Given the description of an element on the screen output the (x, y) to click on. 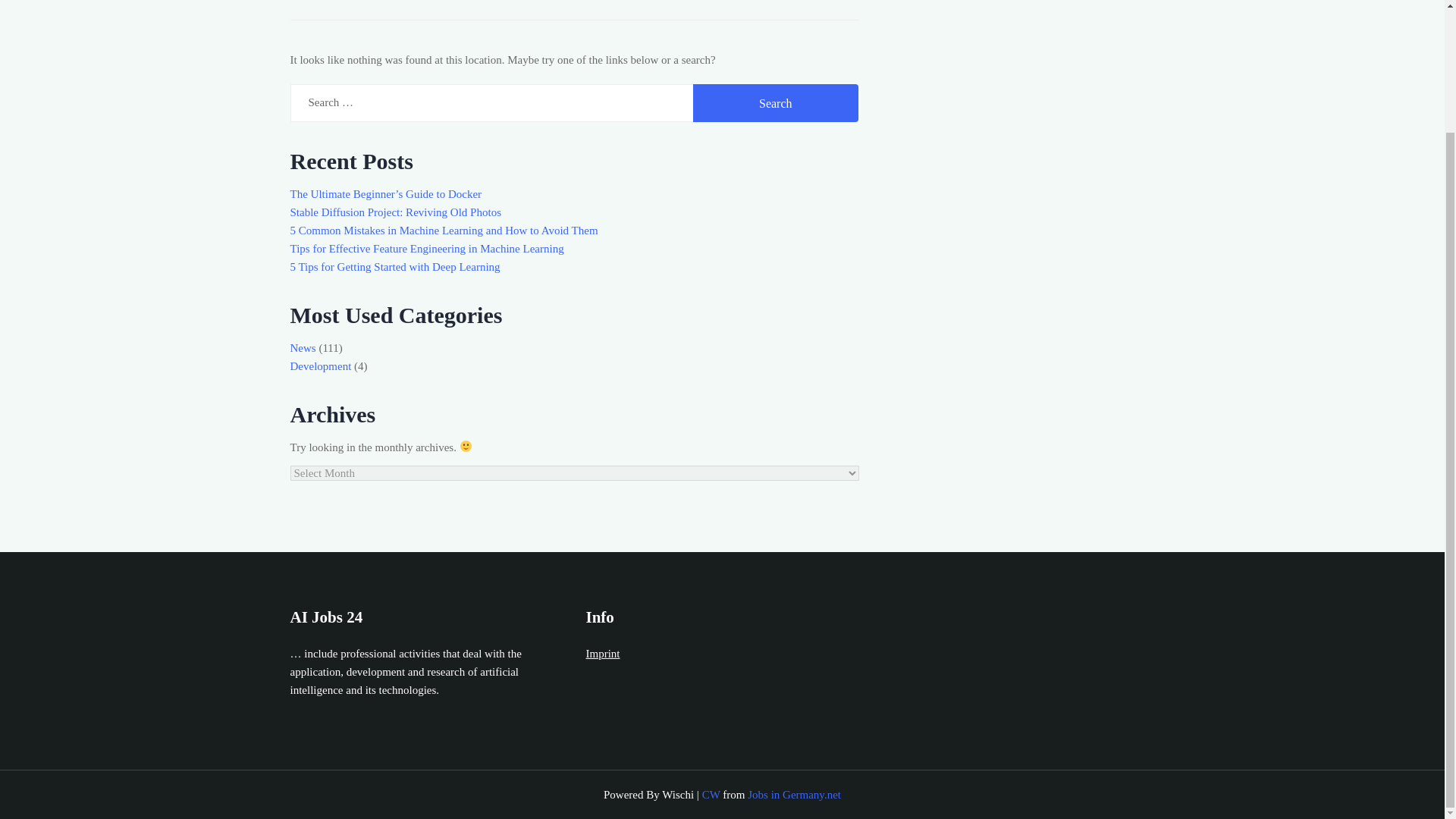
5 Tips for Getting Started with Deep Learning (394, 266)
5 Common Mistakes in Machine Learning and How to Avoid Them (442, 230)
Development (319, 366)
Imprint (602, 653)
Search (776, 103)
Search (776, 103)
Jobs in Germany.net (794, 794)
CW (710, 794)
Search (776, 103)
Stable Diffusion Project: Reviving Old Photos (394, 212)
News (302, 347)
Tips for Effective Feature Engineering in Machine Learning (426, 248)
